Given the description of an element on the screen output the (x, y) to click on. 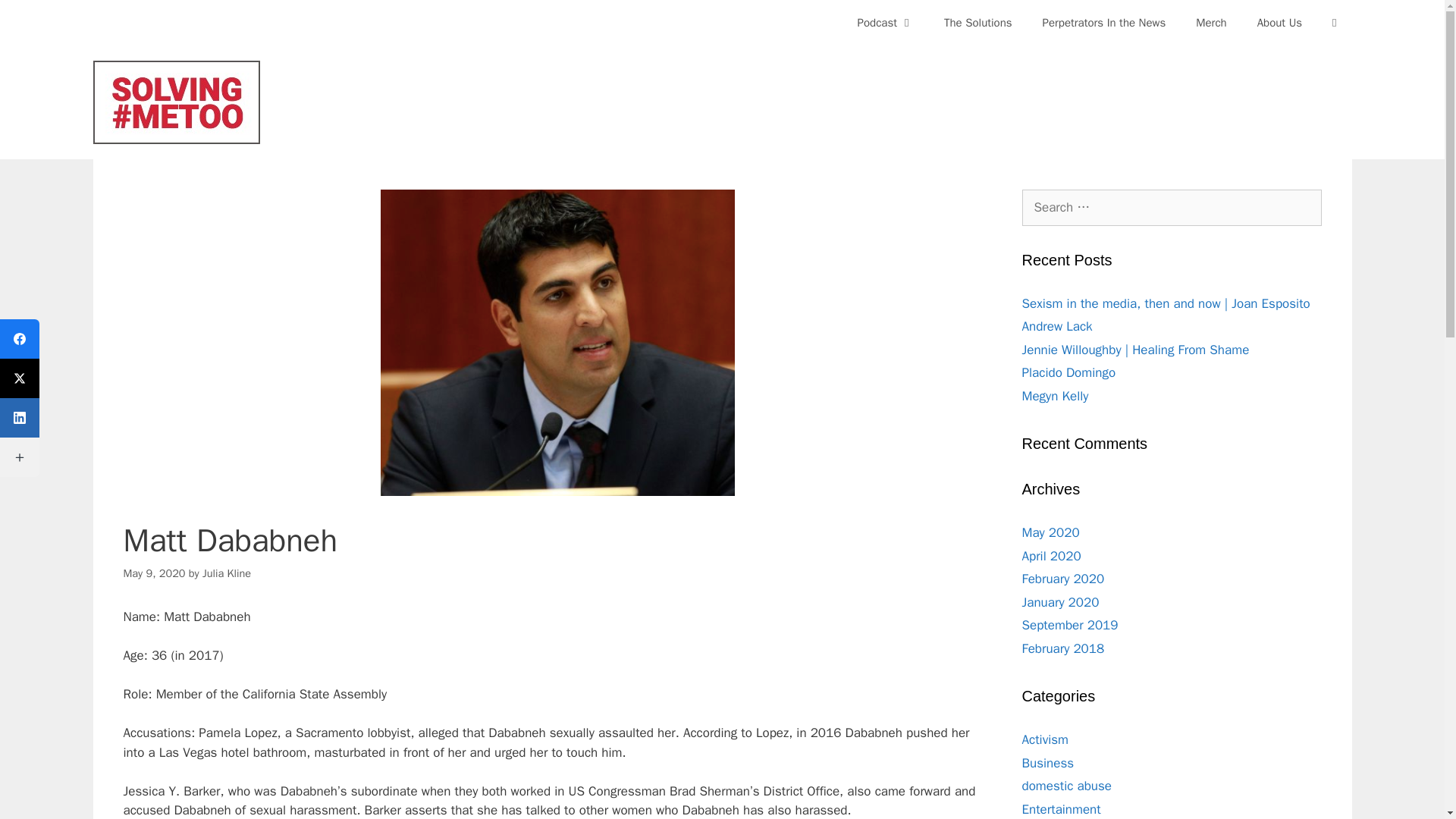
Podcast (885, 22)
Andrew Lack (1057, 326)
January 2020 (1060, 602)
May 2020 (1051, 532)
Megyn Kelly (1055, 396)
Perpetrators In the News (1103, 22)
Activism (1045, 739)
About Us (1279, 22)
February 2020 (1063, 578)
Merch (1210, 22)
